Given the description of an element on the screen output the (x, y) to click on. 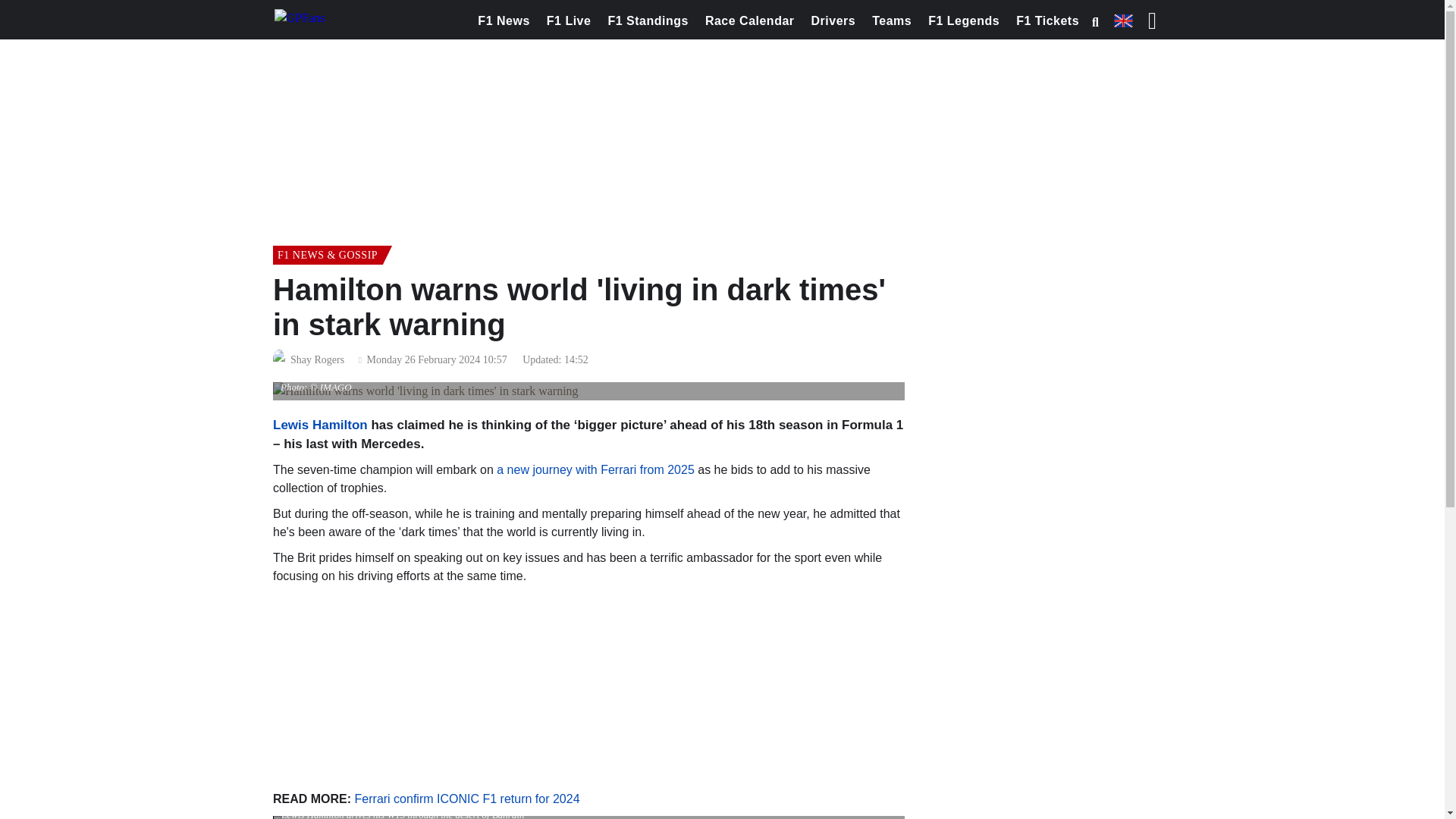
F1 Standings (647, 21)
Lewis Hamilton (320, 424)
F1 News (502, 21)
Drivers (833, 21)
Ferrari confirm ICONIC F1 return for 2024 (467, 798)
a new journey with Ferrari from 2025 (595, 469)
a new journey with Ferrari from 2025 (595, 469)
Ferrari confirm ICONIC F1 return for 2024 (467, 798)
Lewis Hamilton (320, 424)
F1 Tickets (1047, 21)
